Given the description of an element on the screen output the (x, y) to click on. 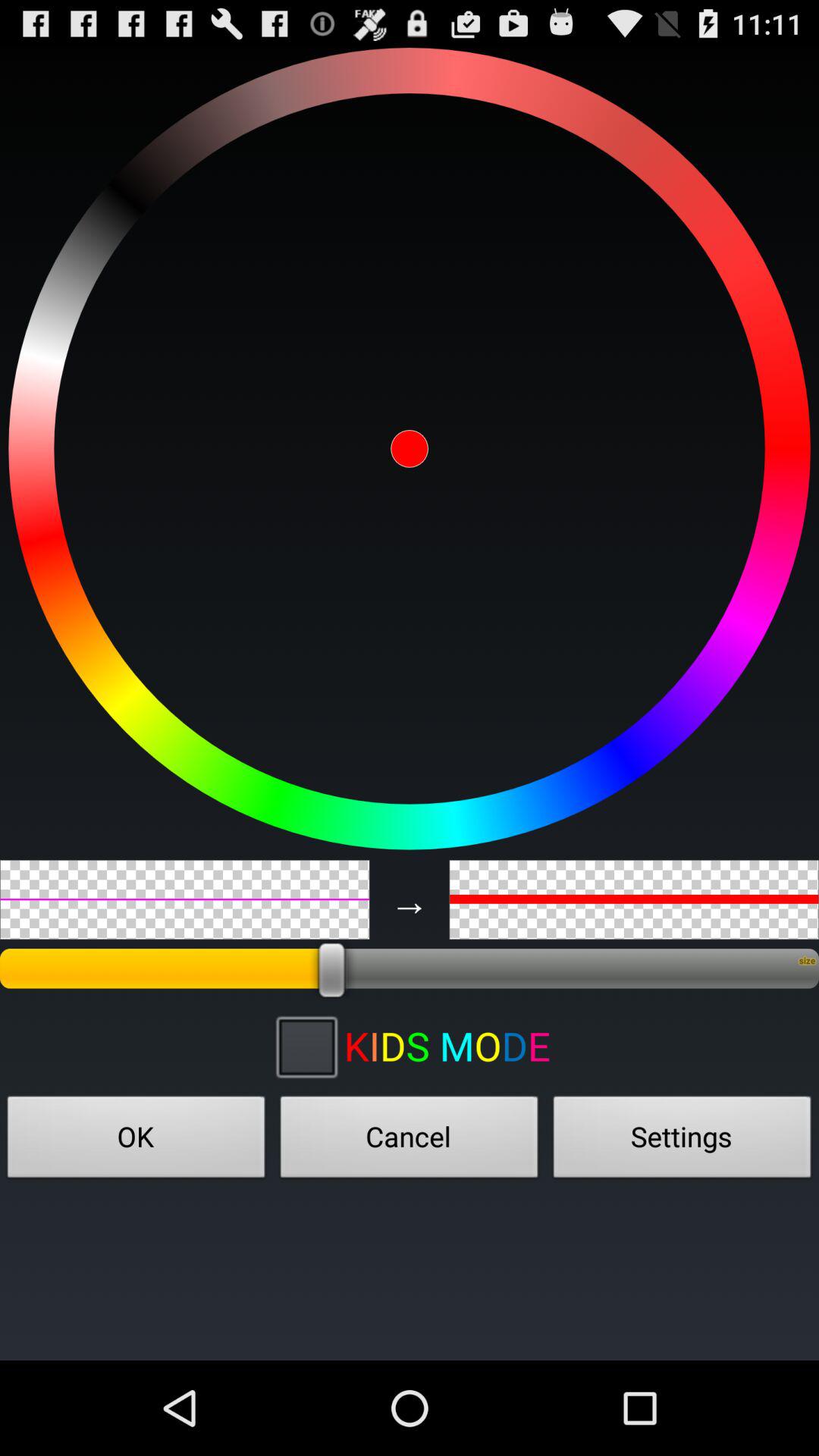
open button to the left of the settings item (409, 1141)
